Given the description of an element on the screen output the (x, y) to click on. 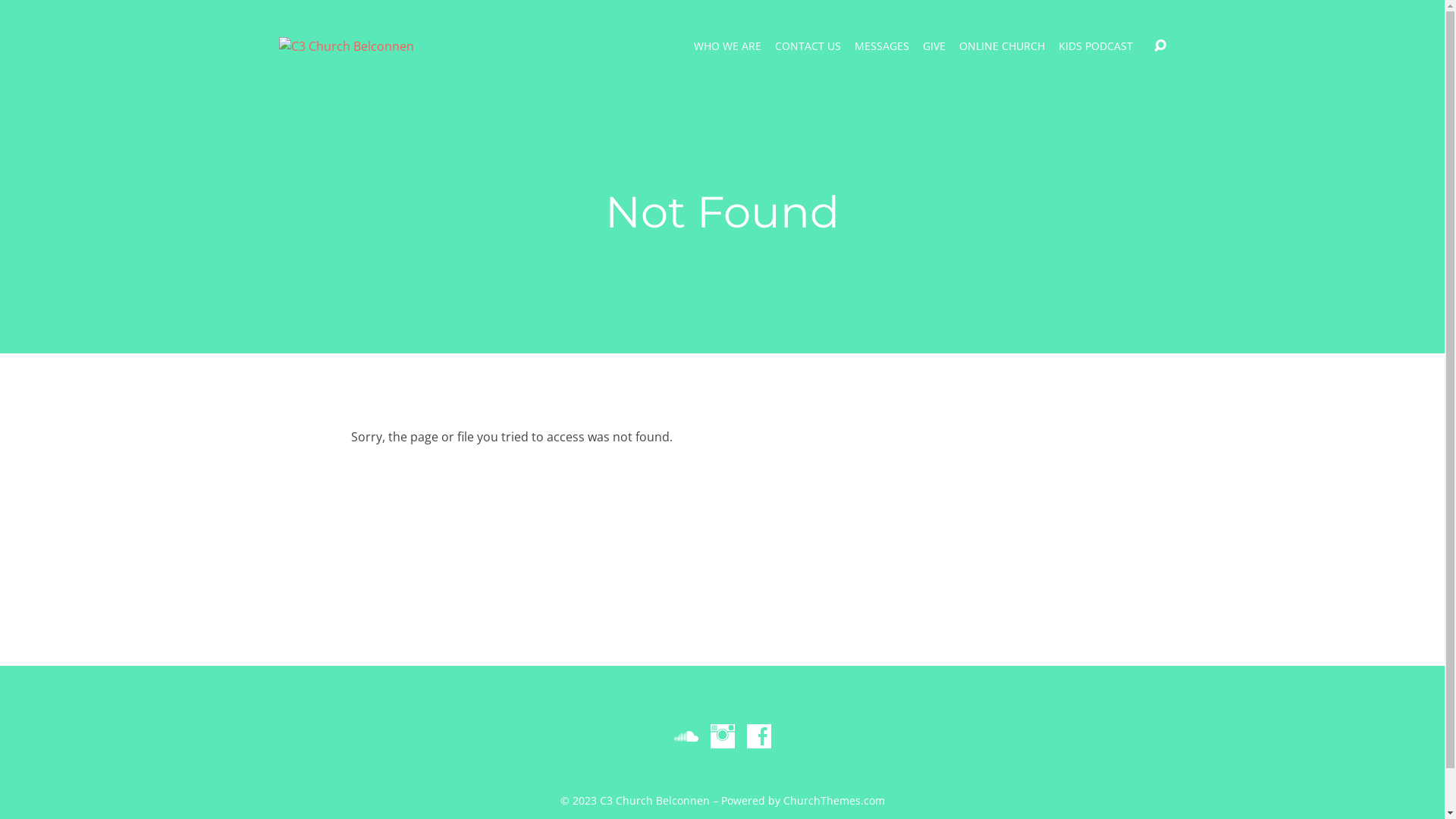
SoundCloud Element type: hover (685, 736)
Facebook Element type: hover (758, 736)
GIVE Element type: text (933, 45)
ChurchThemes.com Element type: text (833, 800)
Open Search Element type: hover (1160, 46)
KIDS PODCAST Element type: text (1095, 45)
ONLINE CHURCH Element type: text (1001, 45)
Instagram Element type: hover (721, 736)
CONTACT US Element type: text (807, 45)
MESSAGES Element type: text (881, 45)
WHO WE ARE Element type: text (727, 45)
